Given the description of an element on the screen output the (x, y) to click on. 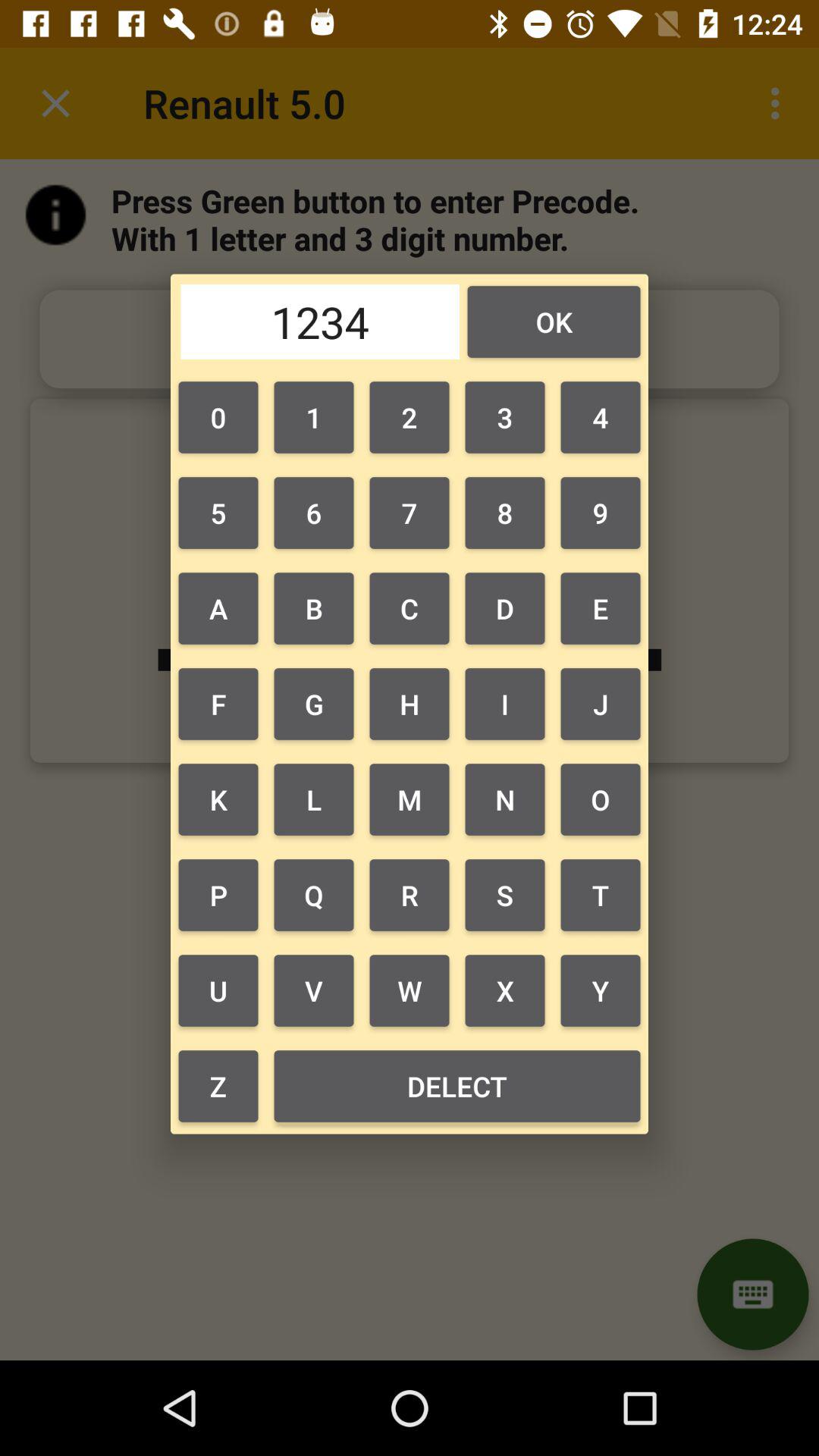
launch the icon to the left of the n (409, 894)
